Given the description of an element on the screen output the (x, y) to click on. 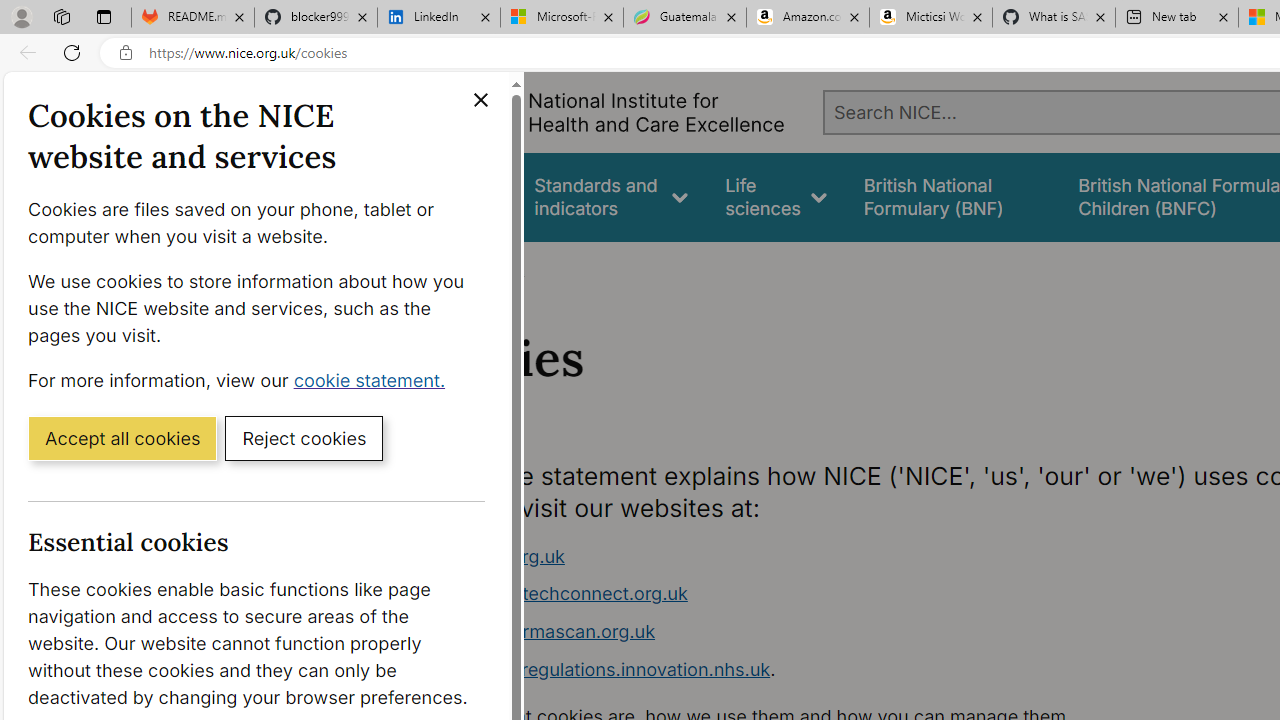
Guidance (458, 196)
LinkedIn (438, 17)
www.digitalregulations.innovation.nhs.uk (595, 668)
Accept all cookies (122, 437)
www.nice.org.uk (796, 556)
